Given the description of an element on the screen output the (x, y) to click on. 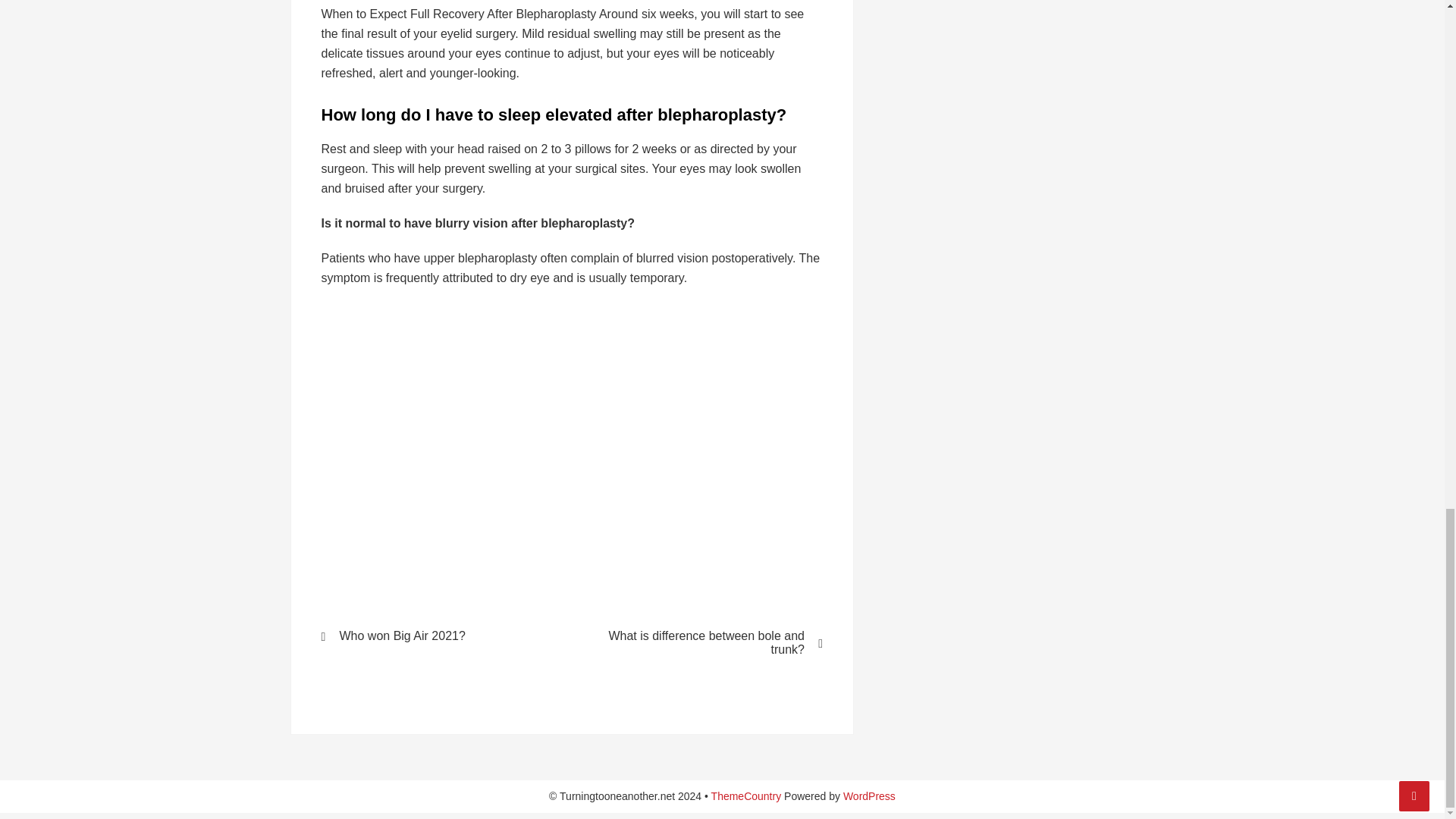
BasePress - The best free WordPress blog theme for WordPress (746, 796)
WordPress (869, 796)
What is difference between bole and trunk? (707, 642)
Who won Big Air 2021? (436, 635)
ThemeCountry (746, 796)
